Given the description of an element on the screen output the (x, y) to click on. 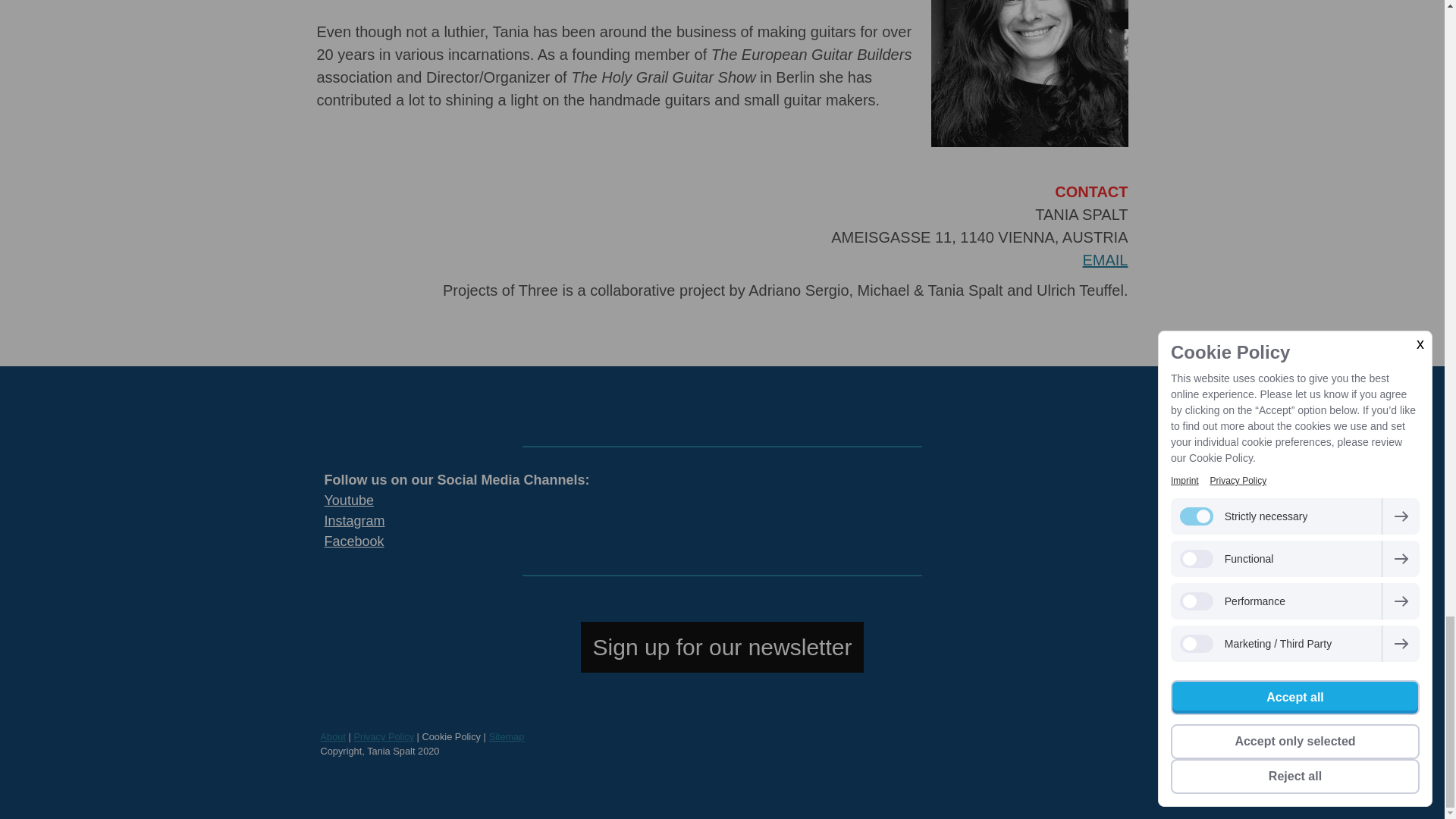
About (332, 736)
Sign up for our newsletter (722, 646)
Youtube (349, 500)
Cookie Policy (451, 736)
Sitemap (505, 736)
EMAIL (1103, 259)
Privacy Policy (383, 736)
Facebook (354, 540)
Instagram (354, 520)
